Given the description of an element on the screen output the (x, y) to click on. 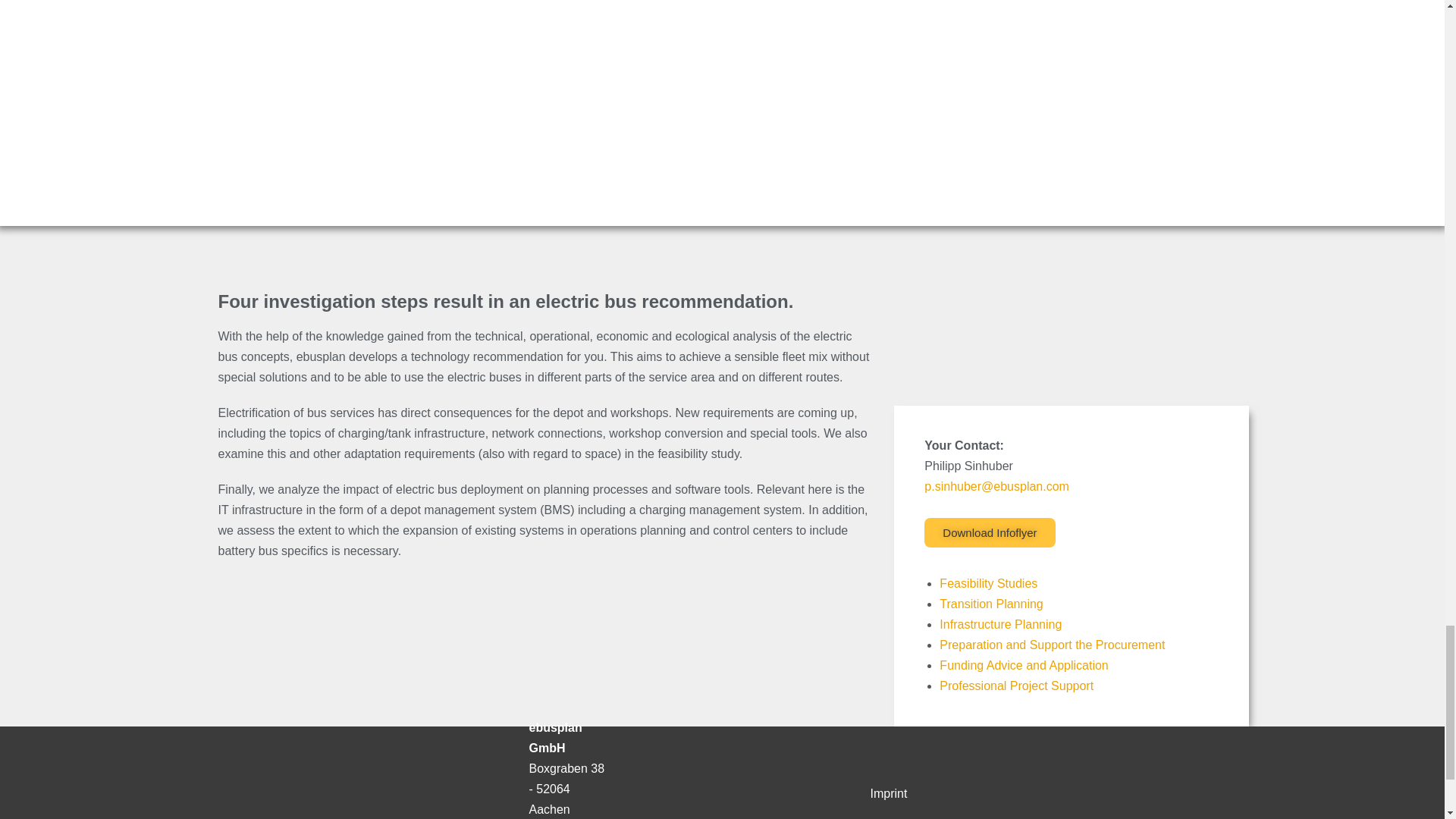
Infrastructure Planning (1000, 624)
Preparation and Support the Procurement (1051, 644)
Feasibility Studies (987, 583)
Funding Advice and Application (1023, 665)
Download Infoflyer (989, 532)
Transition Planning (990, 603)
